Given the description of an element on the screen output the (x, y) to click on. 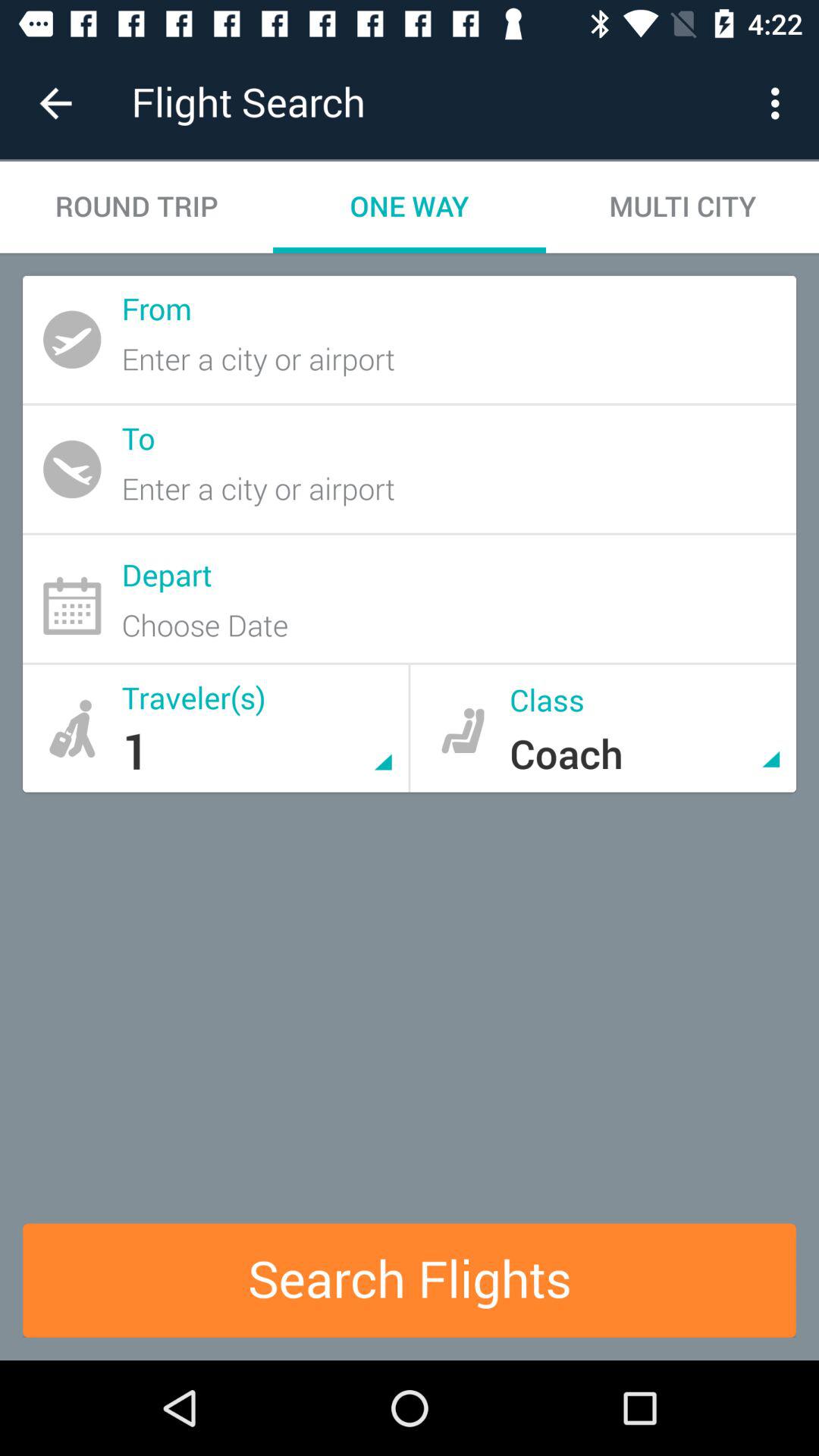
turn off the icon next to the flight search icon (55, 103)
